Given the description of an element on the screen output the (x, y) to click on. 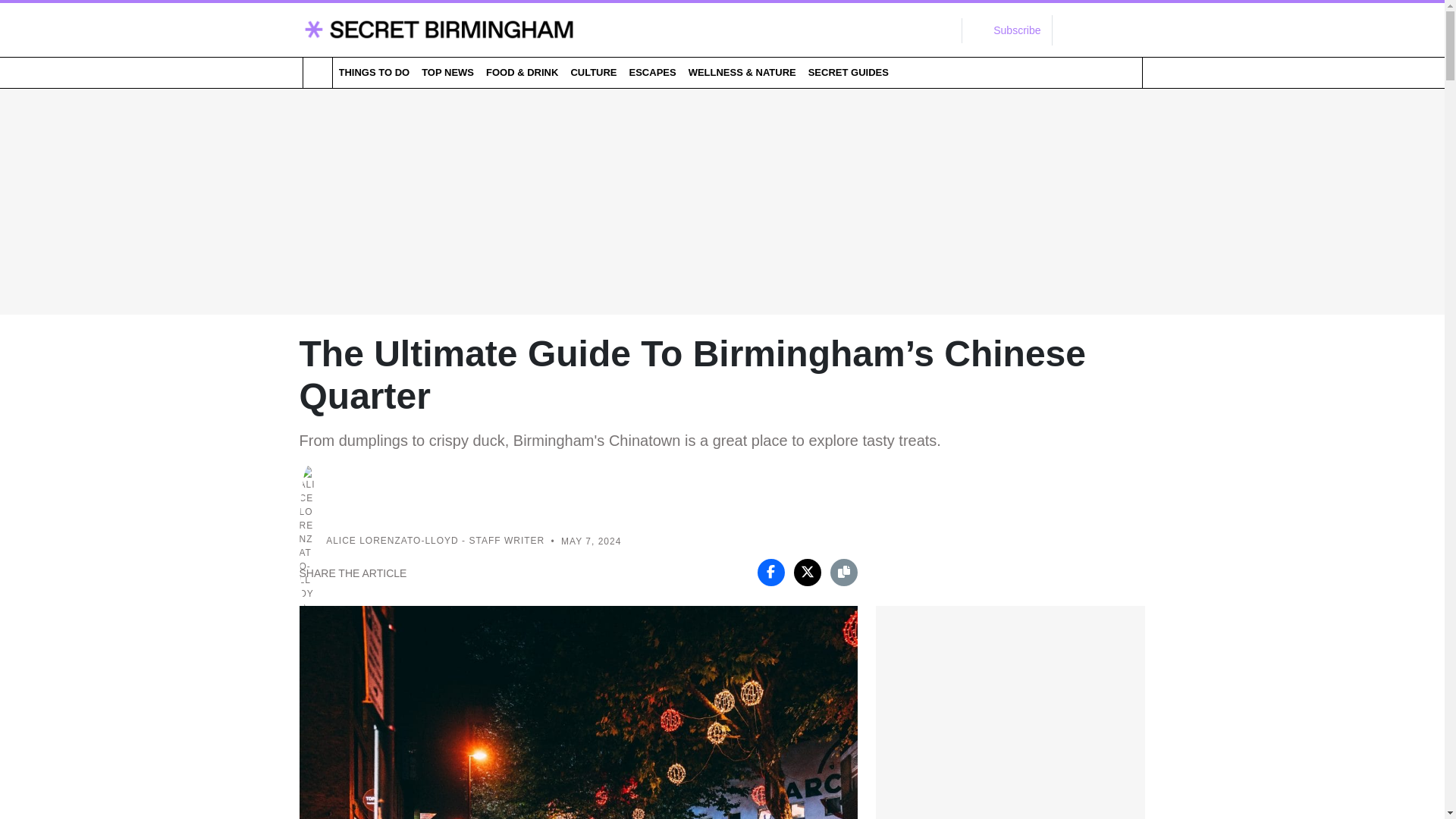
THINGS TO DO (373, 72)
ALICE LORENZATO-LLOYD (392, 541)
ESCAPES (652, 72)
CULTURE (592, 72)
SECRET GUIDES (848, 72)
TOP NEWS (448, 72)
